Given the description of an element on the screen output the (x, y) to click on. 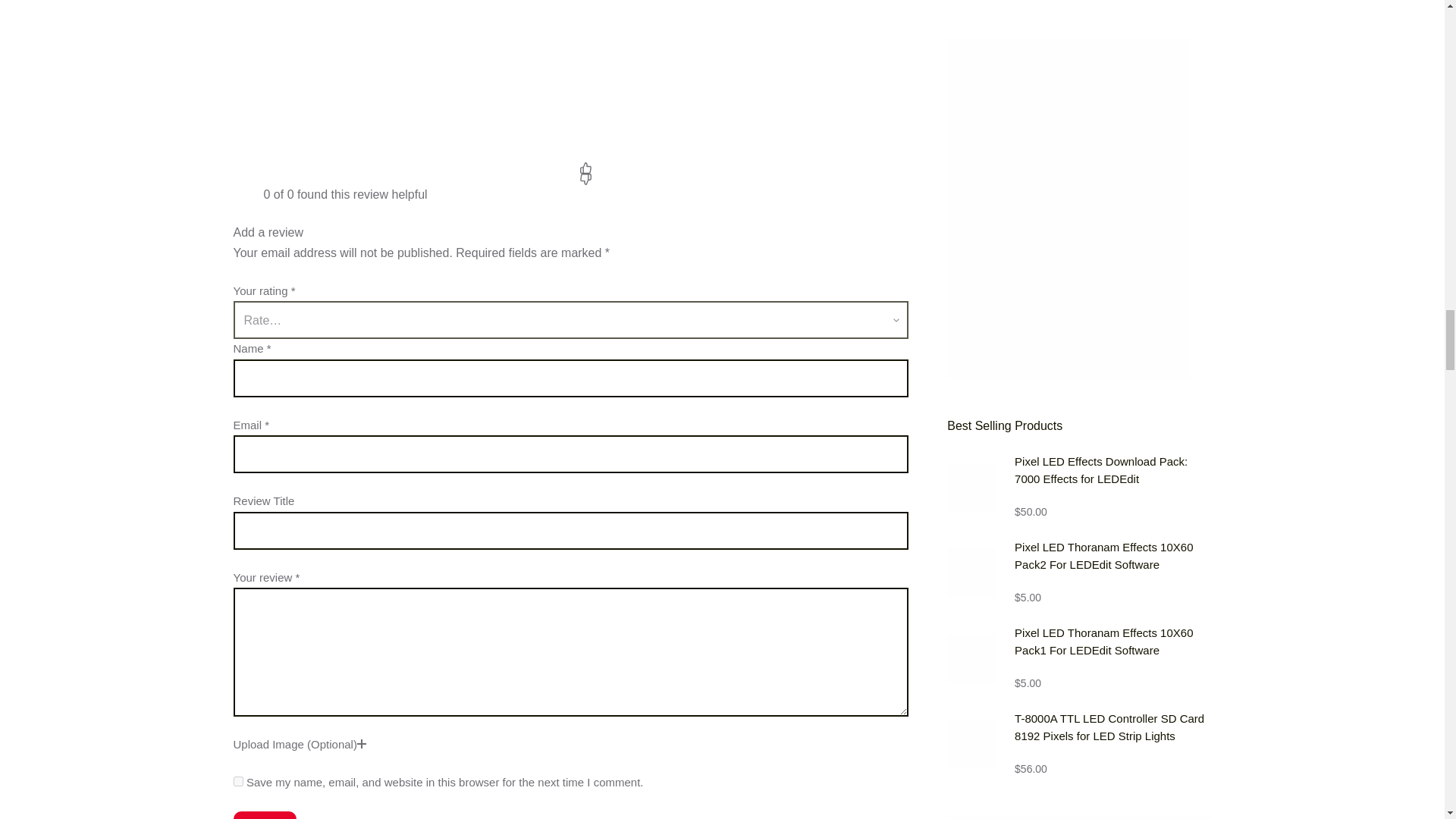
yes (237, 781)
